Given the description of an element on the screen output the (x, y) to click on. 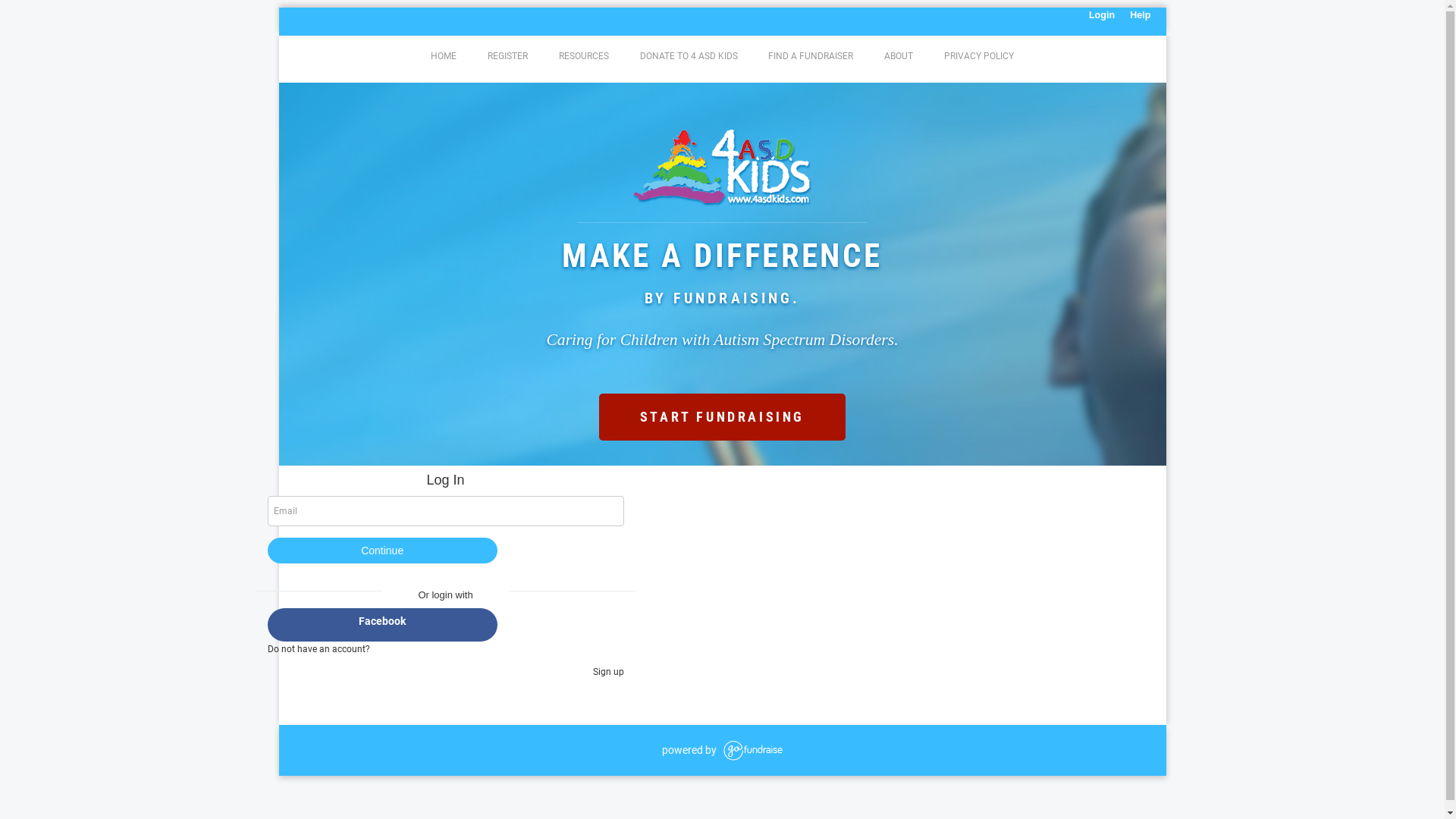
Login Element type: text (1101, 14)
DONATE TO 4 ASD KIDS Element type: text (688, 55)
Sign up Element type: text (608, 671)
REGISTER Element type: text (507, 55)
Help Element type: text (1139, 14)
ABOUT Element type: text (898, 55)
FIND A FUNDRAISER Element type: text (811, 55)
RESOURCES Element type: text (583, 55)
START FUNDRAISING Element type: text (722, 416)
PRIVACY POLICY Element type: text (978, 55)
HOME Element type: text (443, 55)
Continue Element type: text (381, 550)
Facebook Element type: text (381, 624)
